Given the description of an element on the screen output the (x, y) to click on. 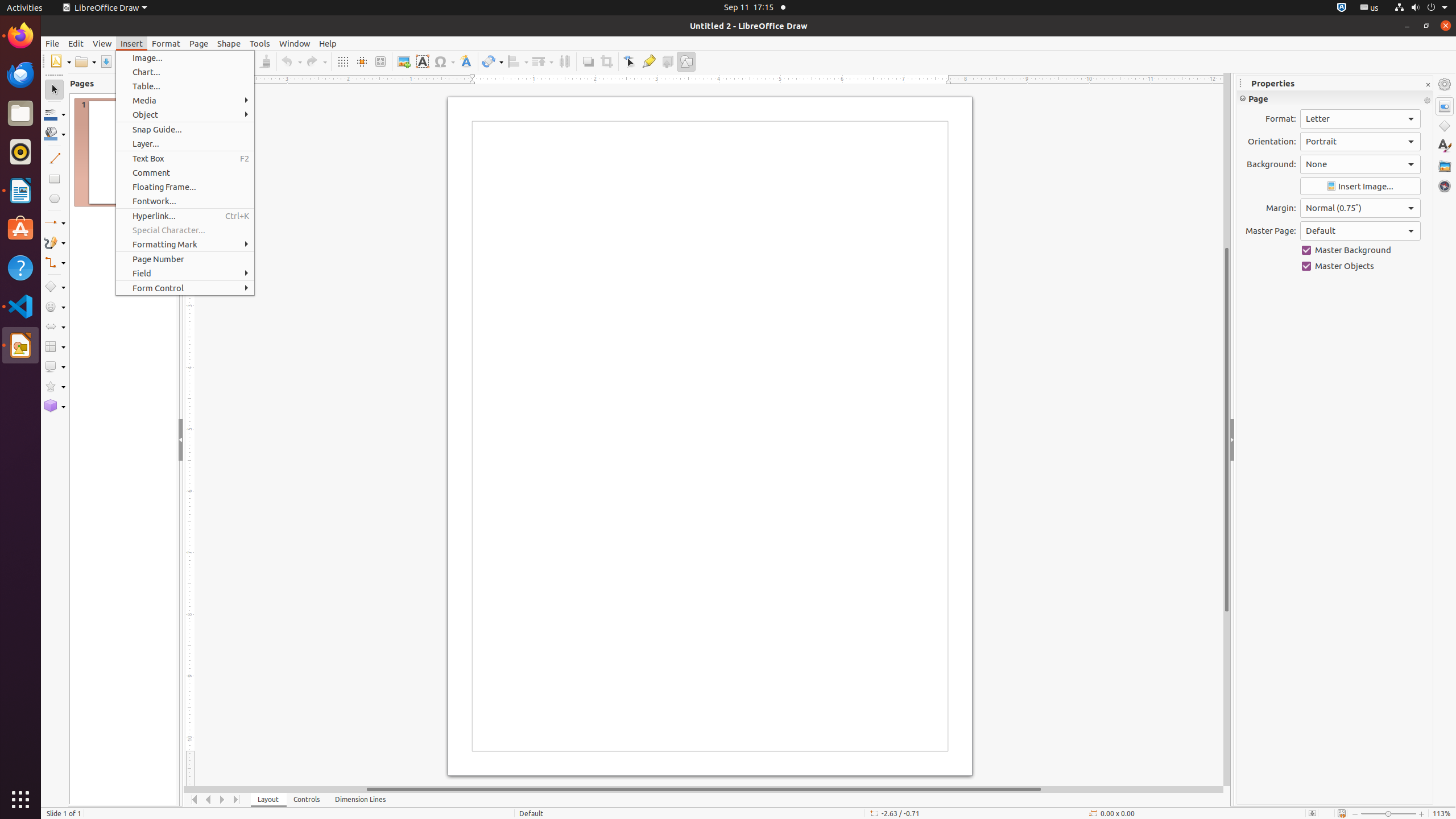
Formatting Mark Element type: menu (185, 244)
Layer... Element type: menu-item (185, 143)
Orientation: Element type: combo-box (1360, 141)
Properties Element type: radio-button (1444, 106)
Special Character... Element type: menu-item (185, 229)
